Given the description of an element on the screen output the (x, y) to click on. 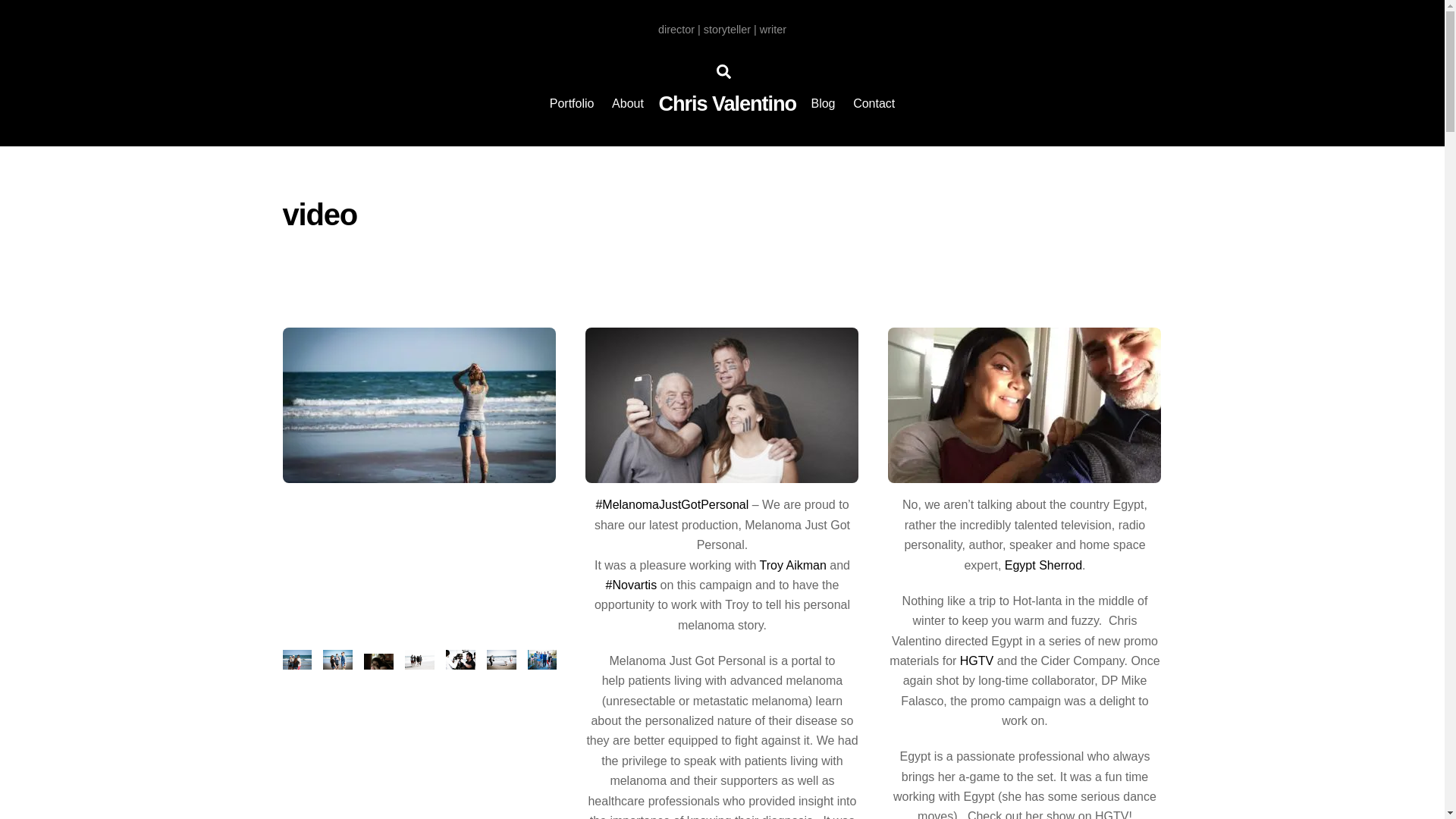
Portfolio (571, 103)
Search (722, 71)
About (721, 88)
Blog (627, 103)
Contact (823, 103)
